Given the description of an element on the screen output the (x, y) to click on. 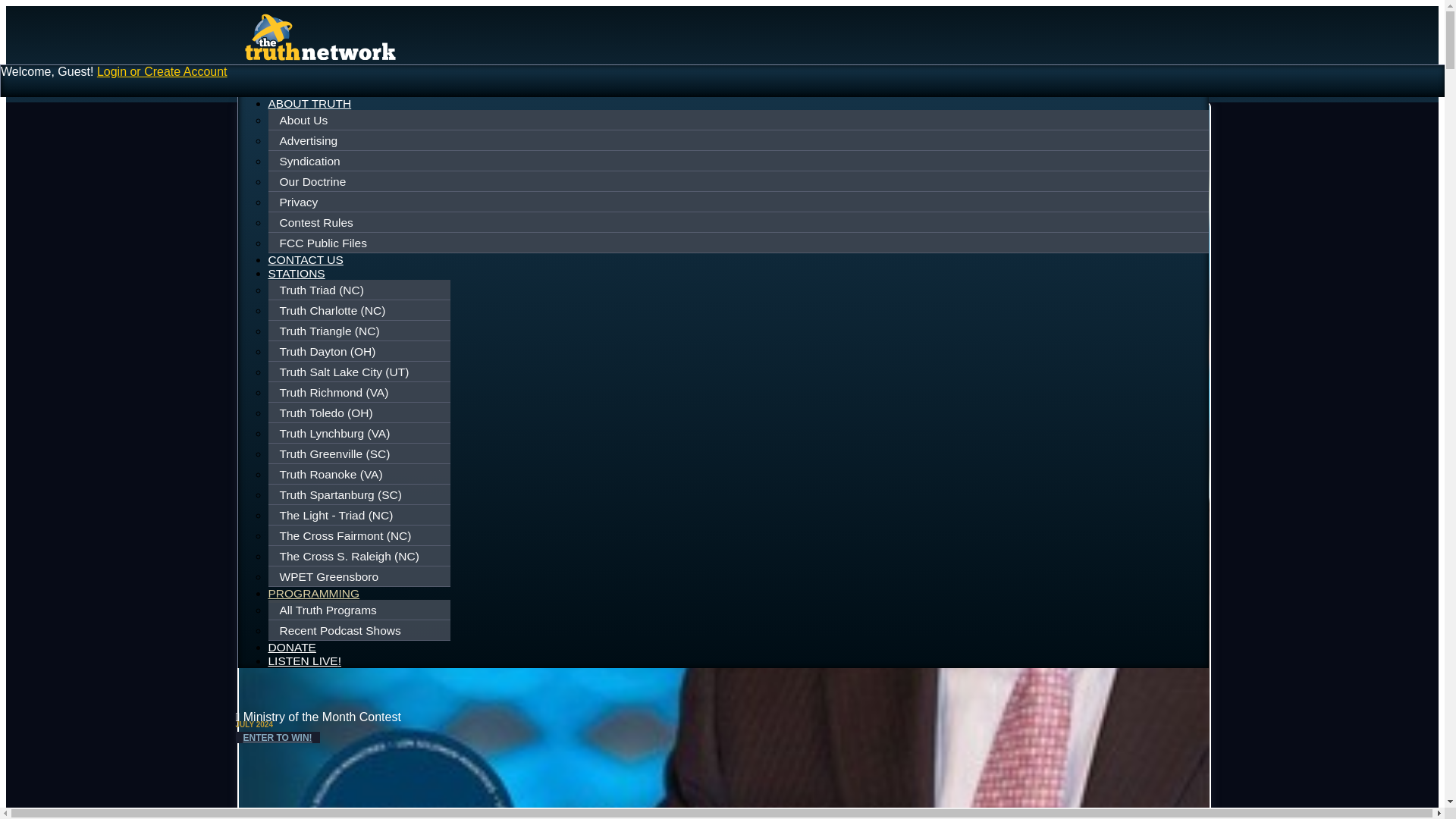
ABOUT TRUTH (309, 103)
CONTACT US (305, 259)
About Us (739, 120)
STATIONS (295, 273)
Syndication (739, 161)
Advertising (739, 140)
WPET Greensboro (360, 576)
FCC Public Files (739, 243)
PROGRAMMING (313, 594)
HOME (285, 89)
Contest Rules (739, 222)
Our Doctrine (739, 181)
Privacy (739, 202)
